Given the description of an element on the screen output the (x, y) to click on. 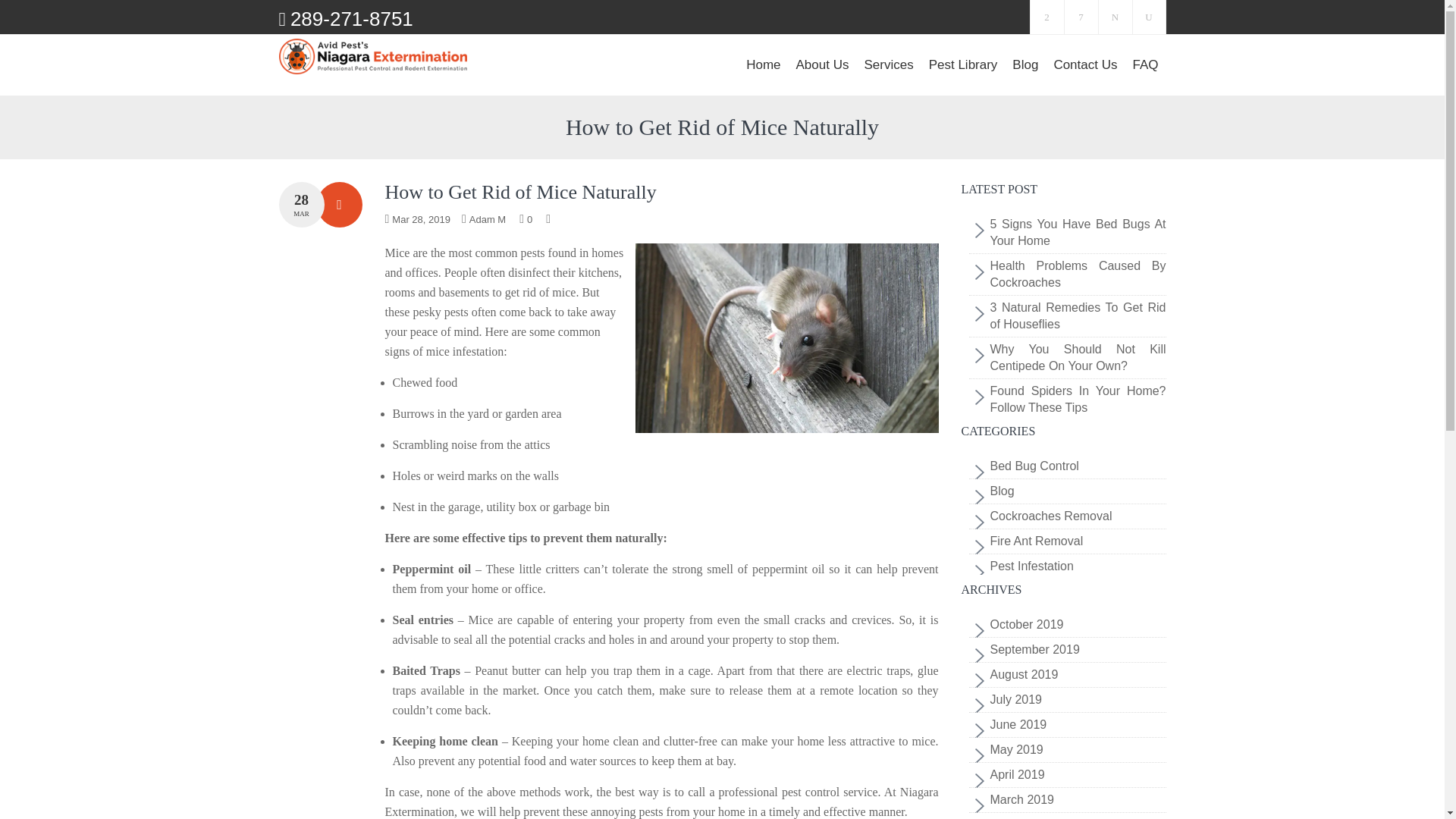
Services (888, 65)
Niagara Extermination (373, 56)
Mice Naturally (786, 338)
About Us (823, 65)
FAQ (1145, 65)
289-271-8751 (351, 18)
Follow us on Twitter (1114, 17)
Home (762, 65)
Watch us on YouTube (1149, 17)
Blog (1024, 65)
Like us on Facebook (1045, 17)
Pest Library (963, 65)
Contact Us (1084, 65)
